Given the description of an element on the screen output the (x, y) to click on. 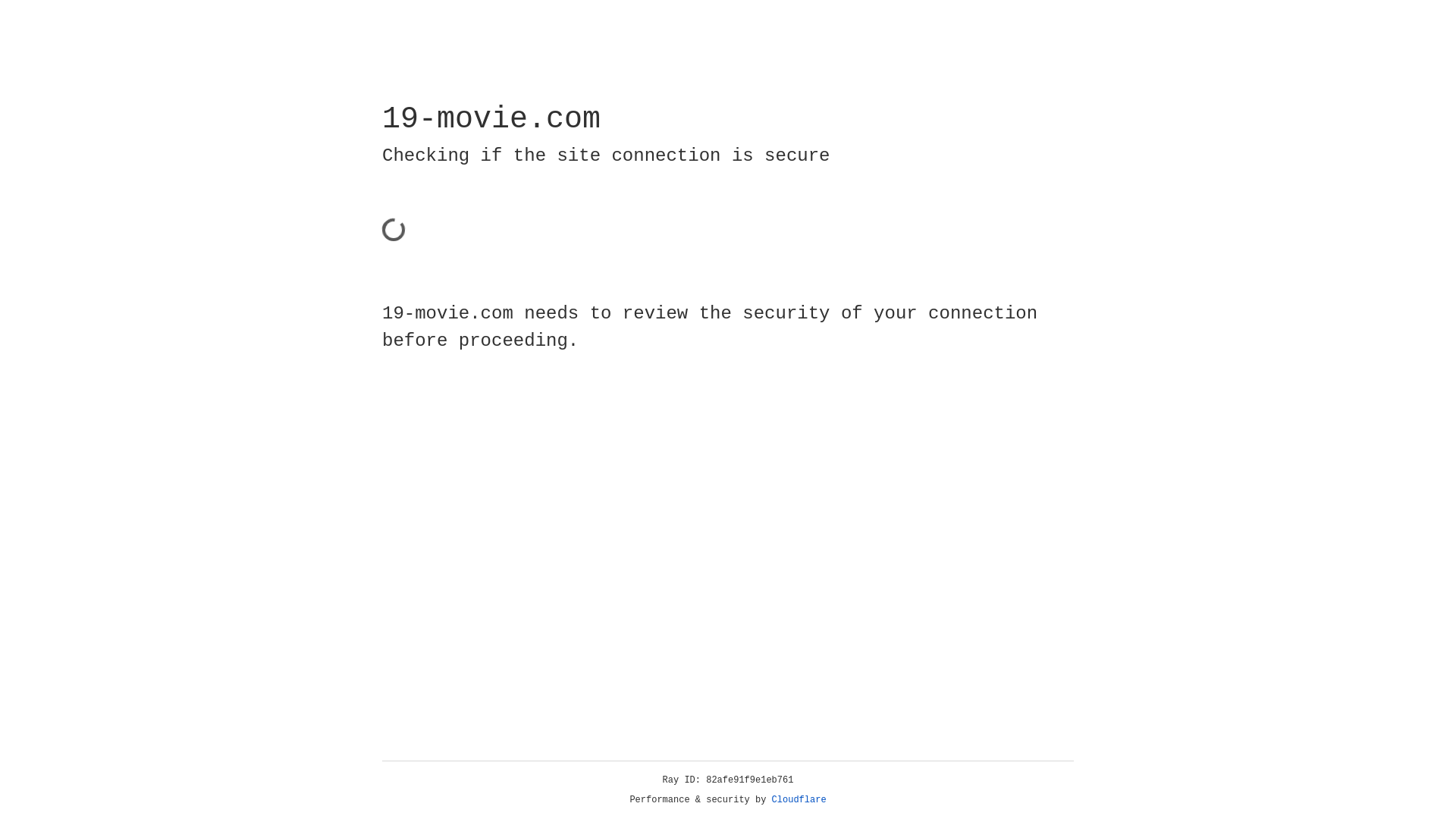
Cloudflare Element type: text (798, 799)
